Given the description of an element on the screen output the (x, y) to click on. 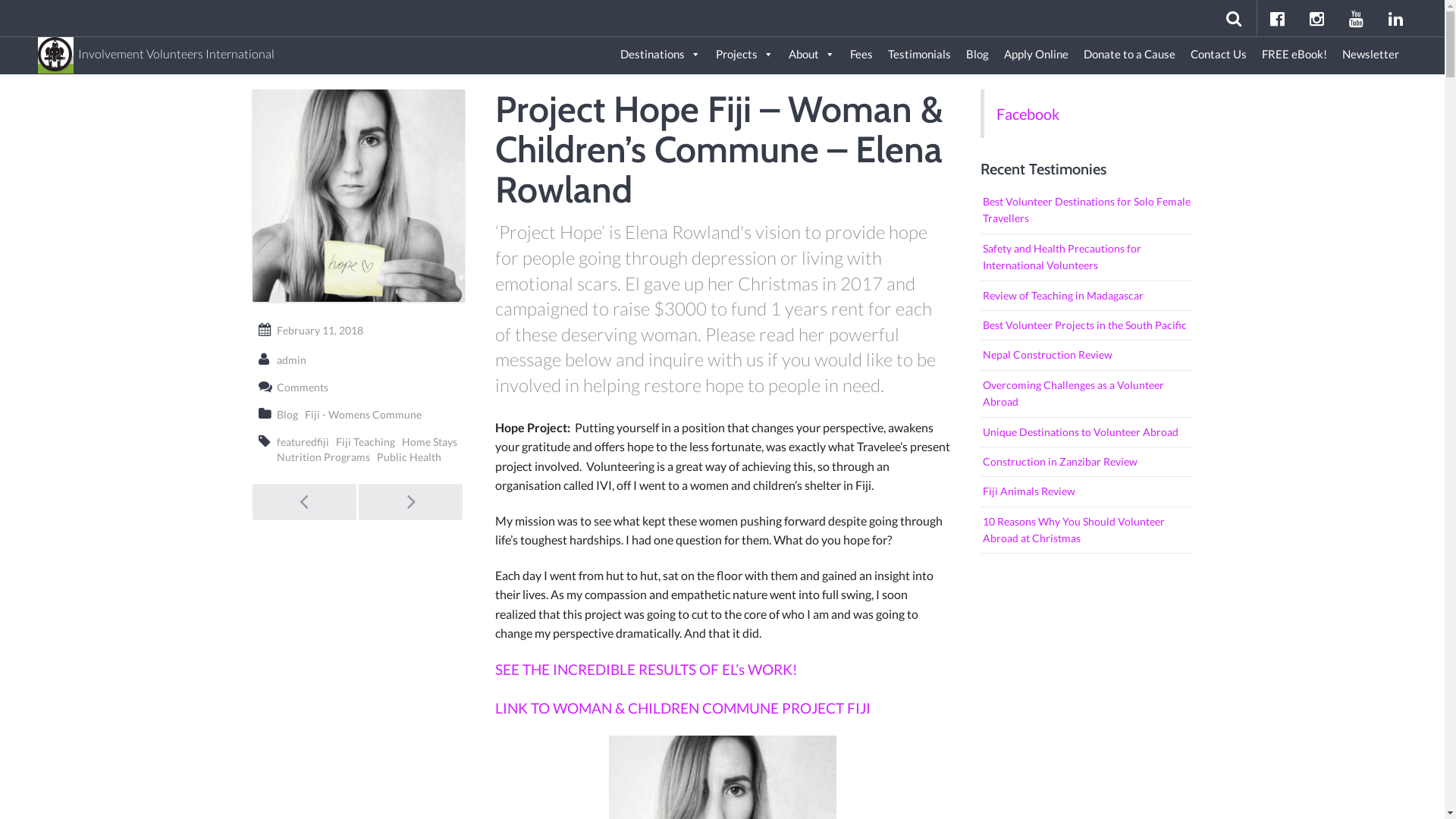
Construction in Zanzibar Review Element type: text (1085, 461)
Home Stays Element type: text (429, 441)
FREE eBook! Element type: text (1294, 54)
Safety and Health Precautions for International Volunteers Element type: text (1085, 257)
About Element type: text (811, 54)
Unique Destinations to Volunteer Abroad Element type: text (1085, 432)
Review of Teaching in Madagascar Element type: text (1085, 295)
Nepal Construction Review Element type: text (1085, 355)
Destinations Element type: text (660, 54)
admin Element type: text (290, 359)
featuredfiji Element type: text (302, 441)
Blog Element type: text (977, 54)
Newsletter Element type: text (1370, 54)
Donate to a Cause Element type: text (1129, 54)
Best Volunteer Projects in the South Pacific Element type: text (1085, 325)
Overcoming Challenges as a Volunteer Abroad Element type: text (1085, 393)
Fiji Animals Review Element type: text (1085, 491)
Testimonials Element type: text (919, 54)
Fiji - Womens Commune Element type: text (362, 413)
Public Health Element type: text (408, 456)
Facebook Element type: text (1027, 113)
Contact Us Element type: text (1218, 54)
Fees Element type: text (861, 54)
10 Reasons Why You Should Volunteer Abroad at Christmas Element type: text (1085, 530)
LINK TO WOMAN & CHILDREN COMMUNE PROJECT FIJI Element type: text (681, 707)
Projects Element type: text (744, 54)
Comments Element type: text (301, 386)
Blog Element type: text (286, 413)
Best Volunteer Destinations for Solo Female Travellers Element type: text (1085, 210)
Fiji Teaching Element type: text (364, 441)
Nutrition Programs Element type: text (322, 456)
Apply Online Element type: text (1036, 54)
 Involvement Volunteers International Element type: text (155, 46)
